Given the description of an element on the screen output the (x, y) to click on. 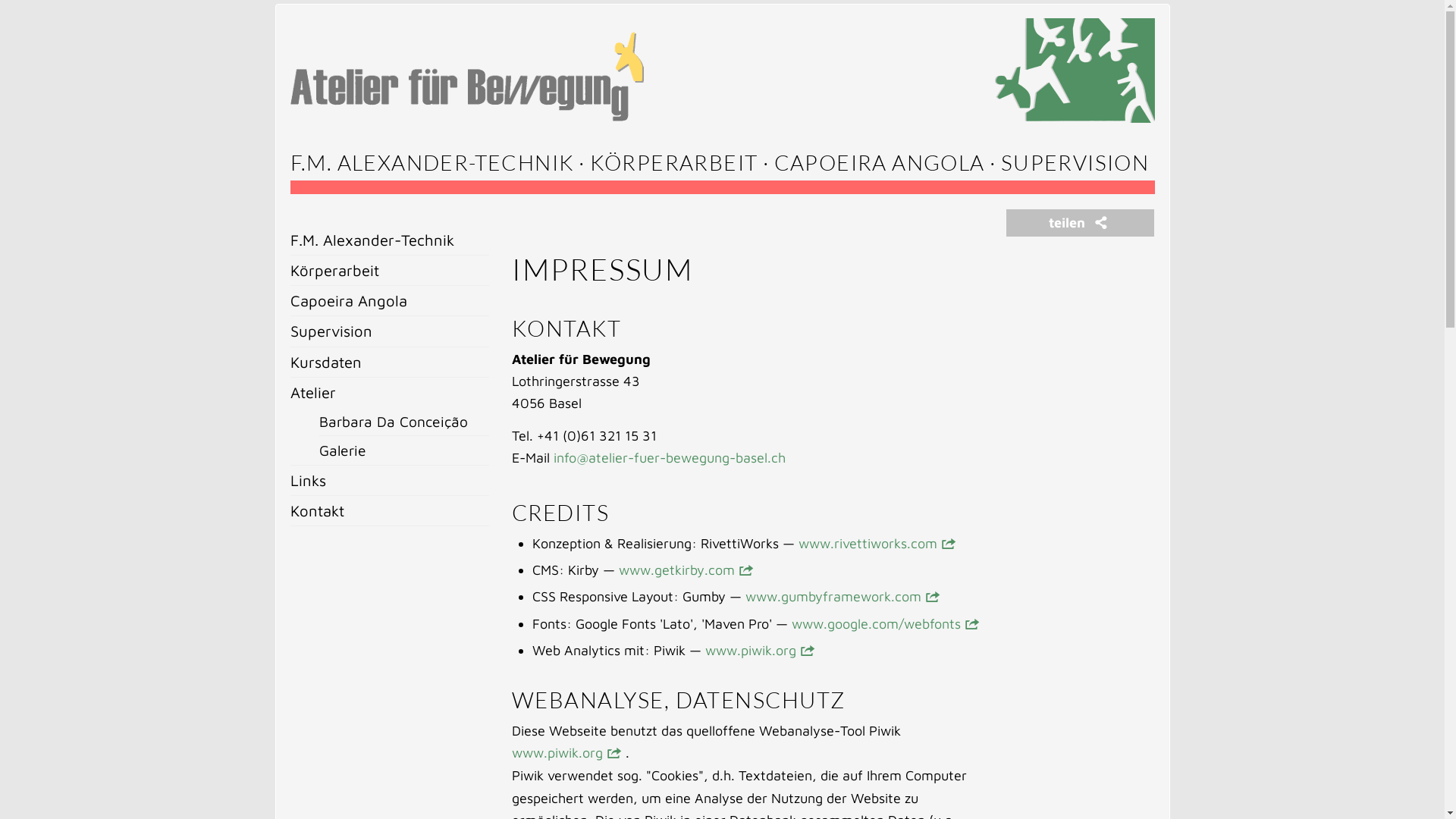
www.gumbyframework.com Element type: text (833, 596)
www.rivettiworks.com Element type: text (867, 543)
www.google.com/webfonts Element type: text (875, 623)
Atelier Element type: text (389, 392)
Capoeira Angola Element type: text (389, 300)
www.getkirby.com Element type: text (676, 569)
Galerie Element type: text (404, 450)
www.piwik.org Element type: text (750, 650)
Kursdaten Element type: text (389, 361)
Links Element type: text (389, 480)
F.M. Alexander-Technik Element type: text (389, 239)
Kontakt Element type: text (389, 510)
teilen Element type: text (1080, 222)
info@atelier-fuer-bewegung-basel.ch Element type: text (669, 457)
Supervision Element type: text (389, 330)
www.piwik.org Element type: text (556, 752)
